Given the description of an element on the screen output the (x, y) to click on. 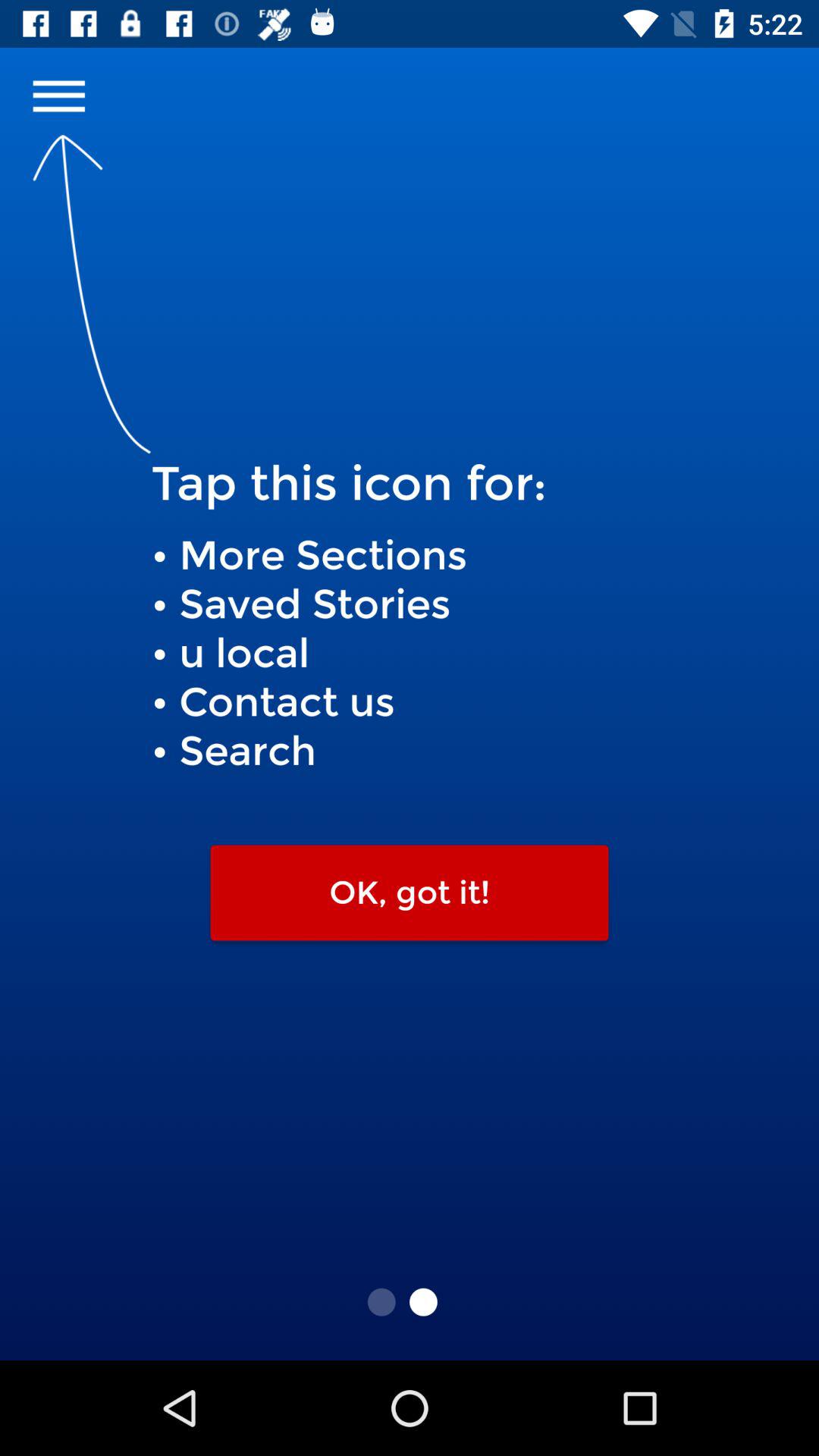
swipe until ok, got it! (409, 892)
